Given the description of an element on the screen output the (x, y) to click on. 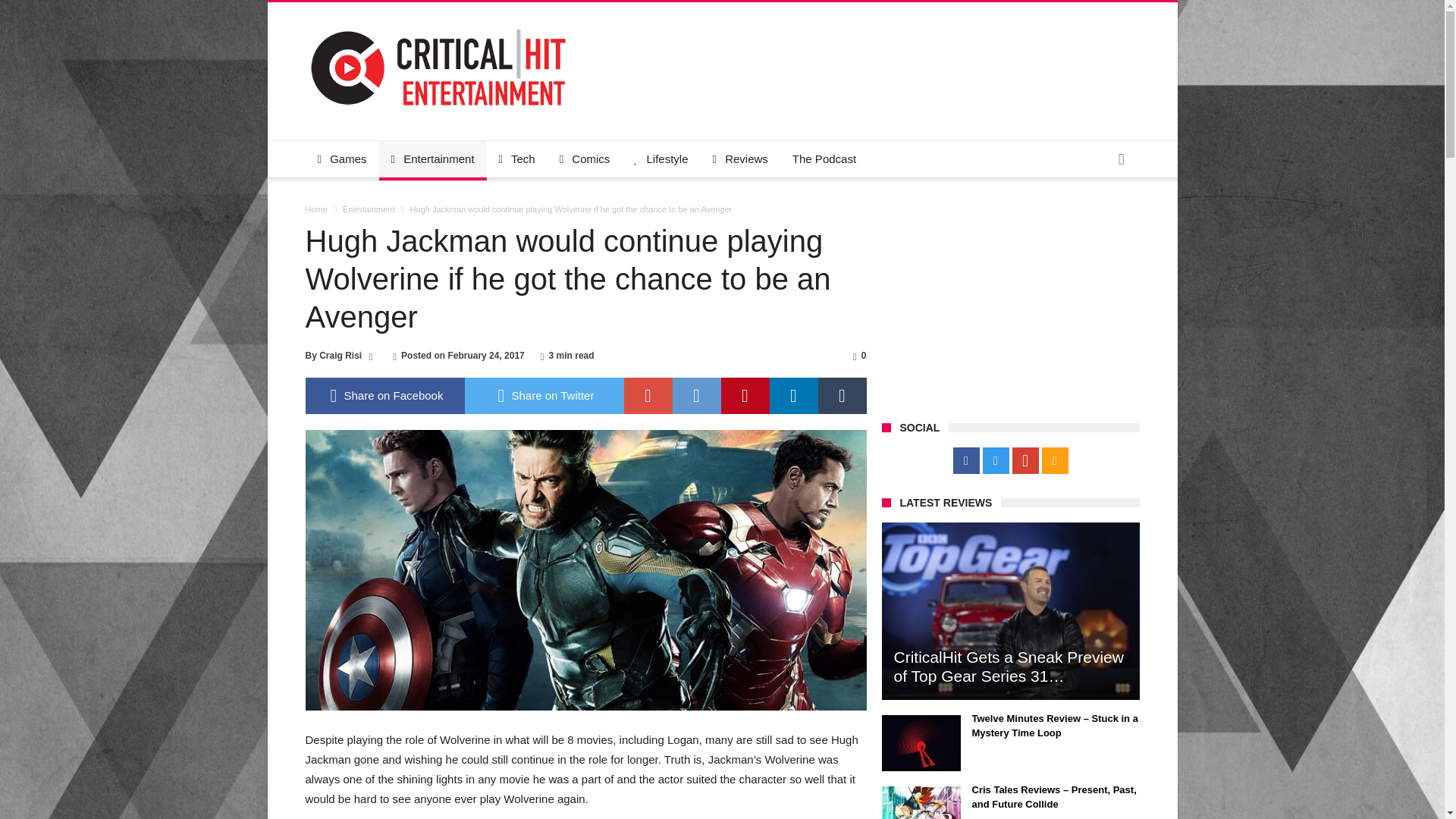
Share on Pinterest (744, 395)
google (647, 395)
The Podcast (823, 158)
Games (341, 158)
linkedin (792, 395)
Share on Reddit (695, 395)
Share on Twitter (543, 395)
reddit (695, 395)
Comics (585, 158)
Share on Facebook (384, 395)
